Given the description of an element on the screen output the (x, y) to click on. 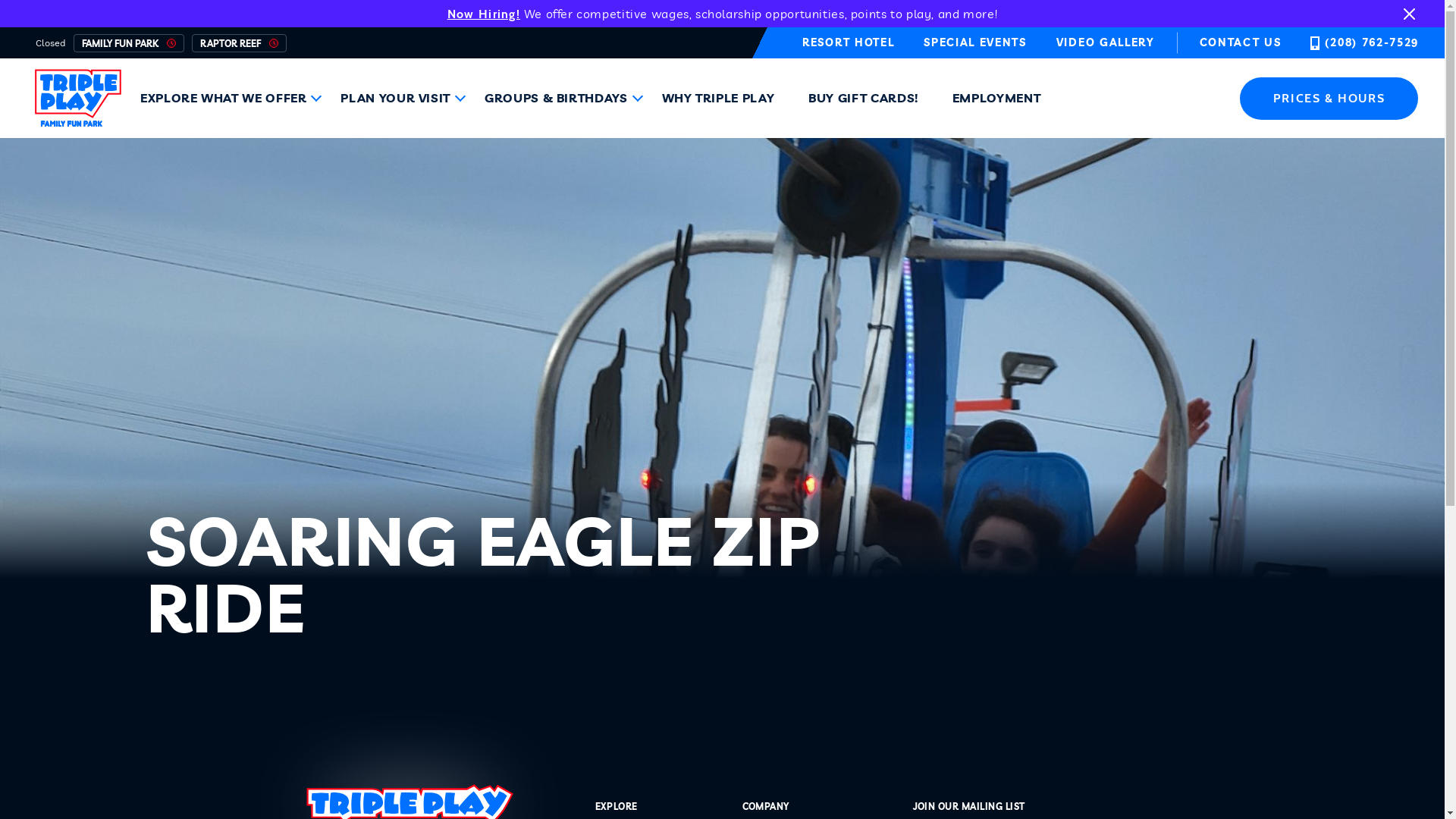
(208) 762-7529 Element type: text (1368, 42)
BUY GIFT CARDS! Element type: text (872, 98)
EXPLORE WHAT WE OFFER Element type: text (232, 98)
WHY TRIPLE PLAY Element type: text (727, 98)
PLAN YOUR VISIT Element type: text (404, 98)
EMPLOYMENT Element type: text (1005, 98)
FAMILY FUN PARK Element type: text (128, 43)
Now Hiring! Element type: text (483, 13)
RAPTOR REEF Element type: text (238, 43)
VIDEO GALLERY Element type: text (1105, 42)
CONTACT US Element type: text (1240, 42)
RESORT HOTEL Element type: text (847, 42)
GROUPS & BIRTHDAYS Element type: text (565, 98)
PRICES & HOURS Element type: text (1328, 98)
SPECIAL EVENTS Element type: text (975, 42)
